Given the description of an element on the screen output the (x, y) to click on. 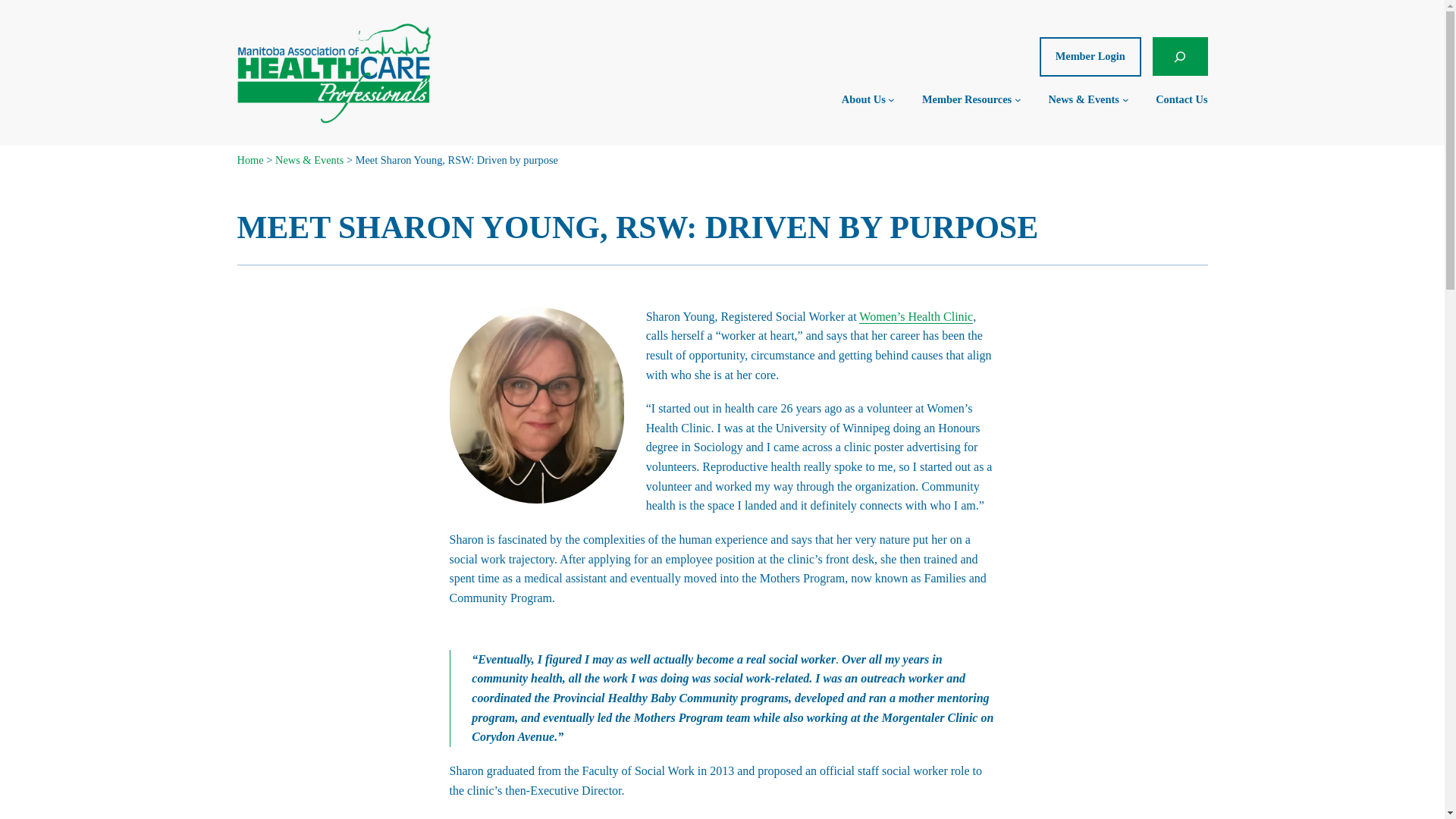
About Us (863, 99)
Member Resources (966, 99)
Member Login (1090, 56)
Contact Us (1181, 99)
